Given the description of an element on the screen output the (x, y) to click on. 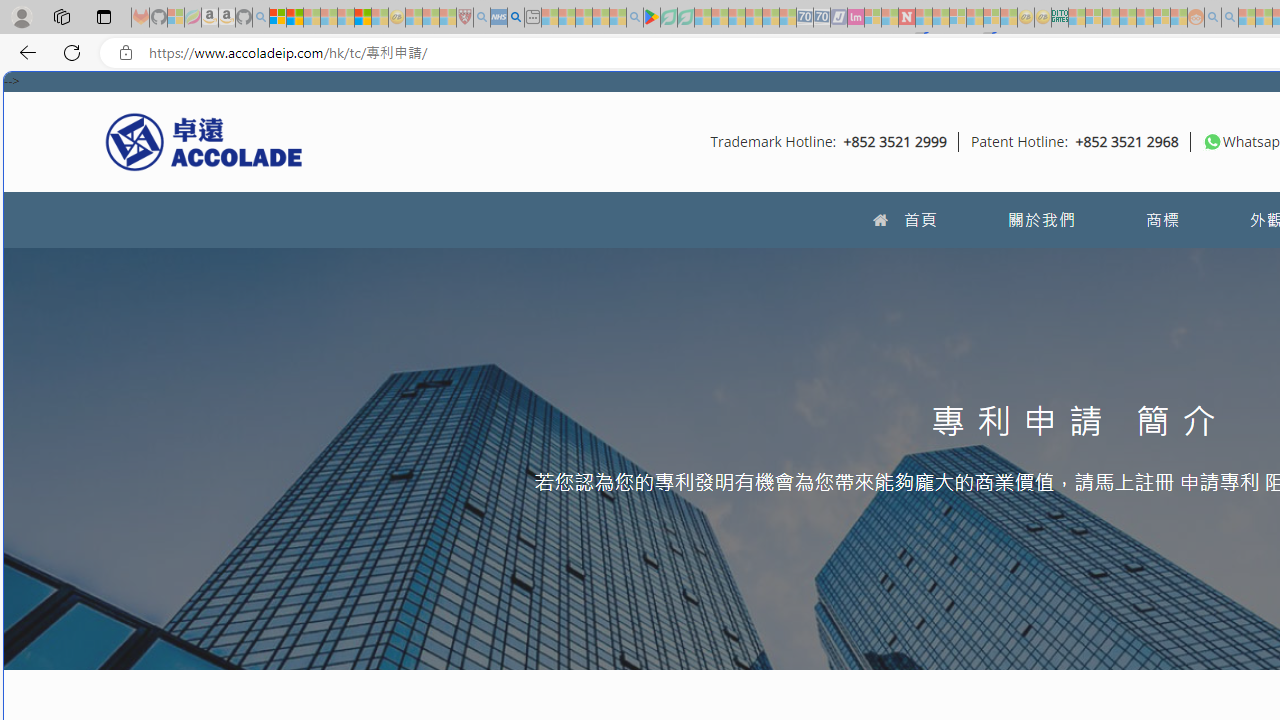
Accolade IP HK Logo (203, 141)
